Given the description of an element on the screen output the (x, y) to click on. 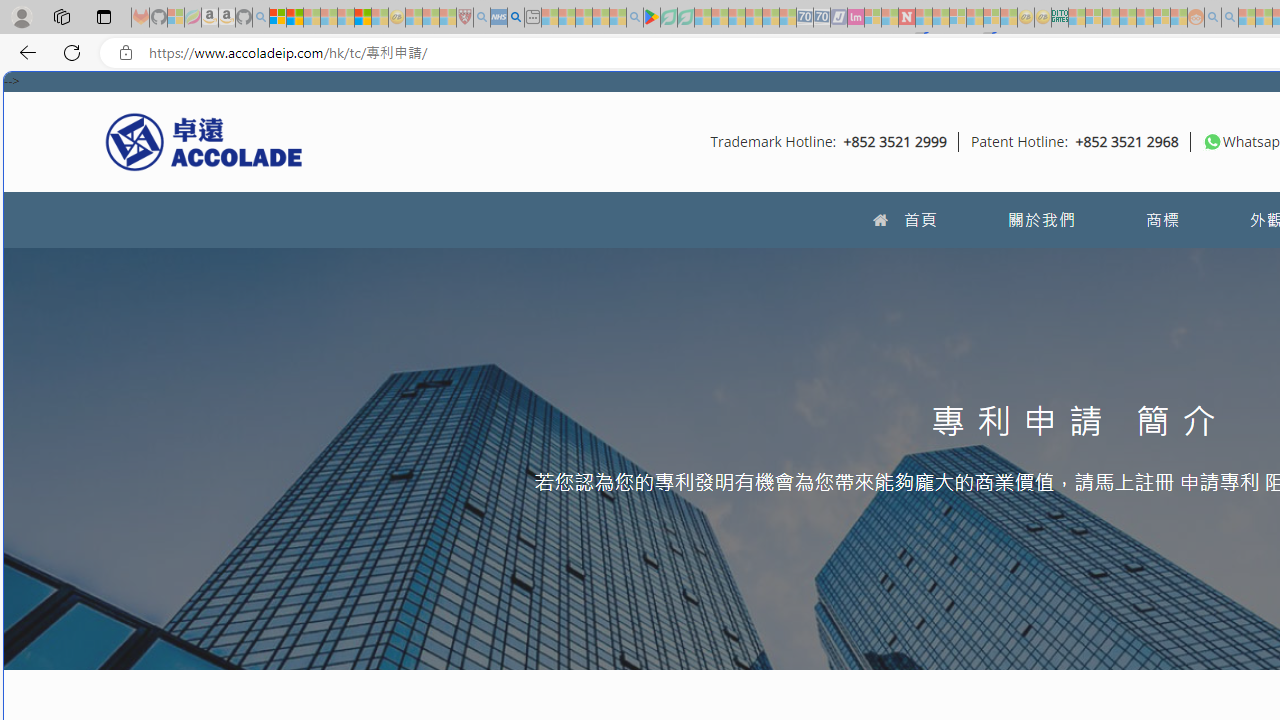
Accolade IP HK Logo (203, 141)
